Given the description of an element on the screen output the (x, y) to click on. 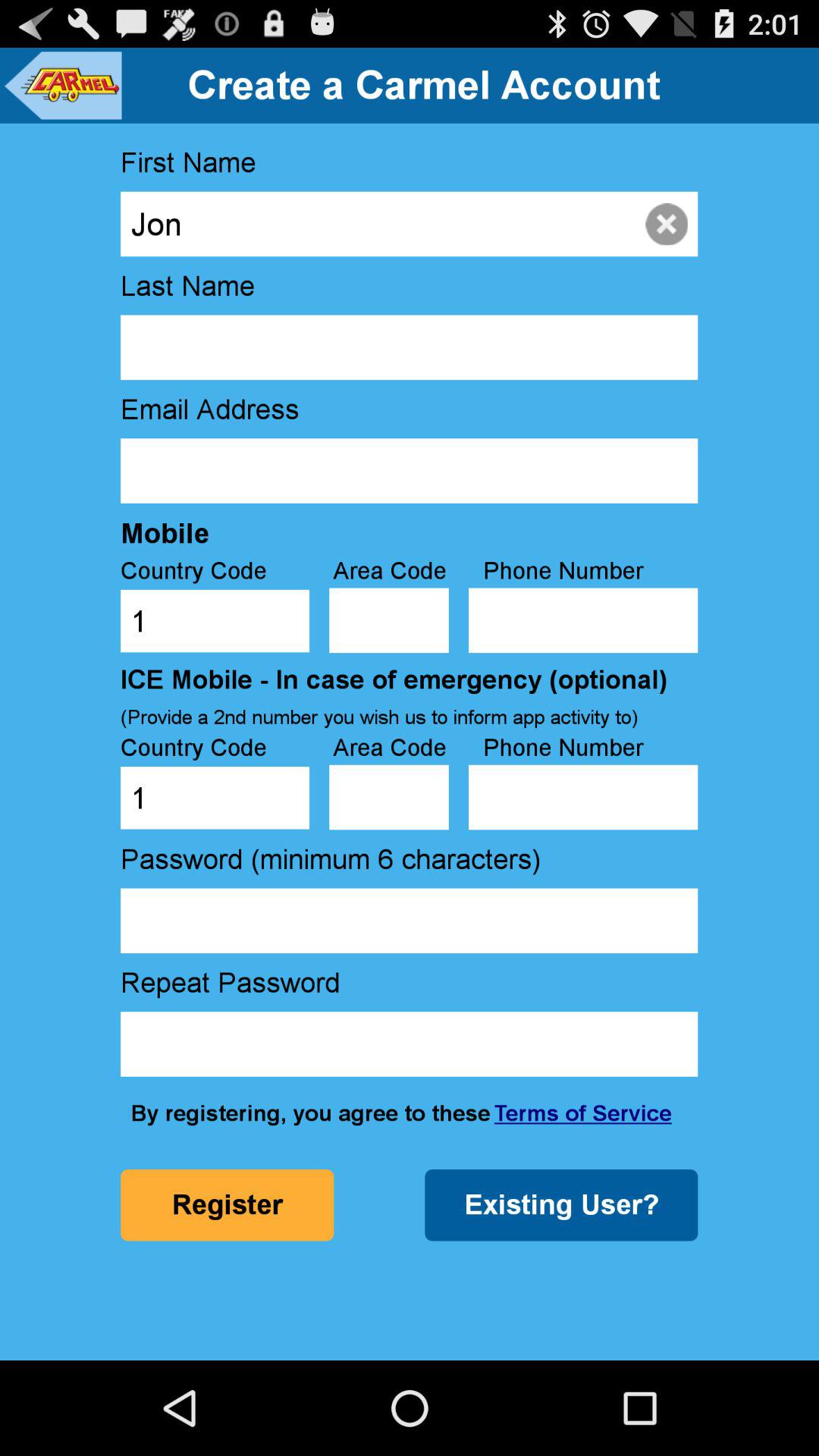
choose item below by registering you item (560, 1205)
